Given the description of an element on the screen output the (x, y) to click on. 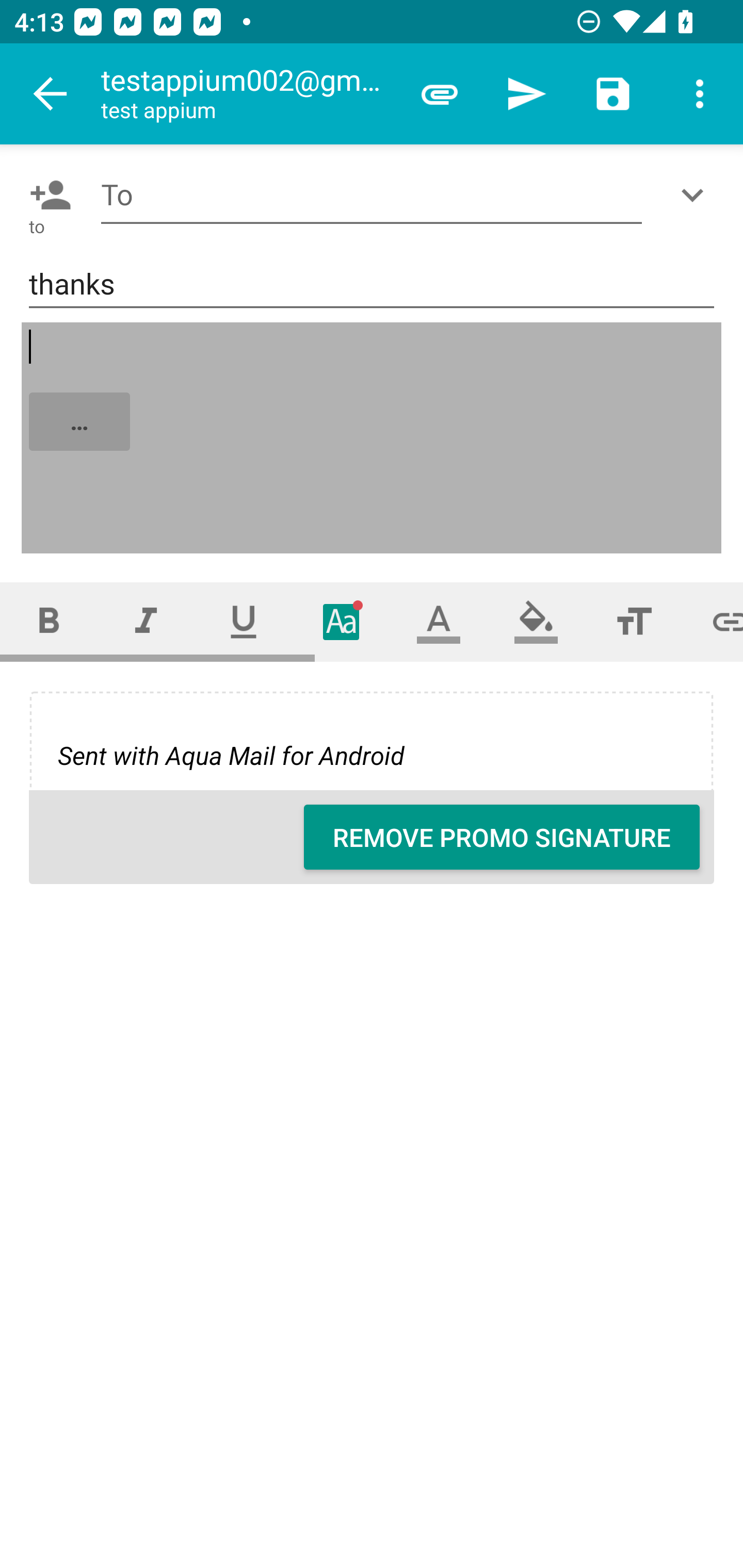
Navigate up (50, 93)
testappium002@gmail.com test appium (248, 93)
Attach (439, 93)
Send (525, 93)
Save (612, 93)
More options (699, 93)
Pick contact: To (46, 195)
Show/Add CC/BCC (696, 195)
To (371, 195)
thanks (371, 284)

…
 (372, 438)
Bold (48, 621)
Italic (145, 621)
Underline (243, 621)
Typeface (font) (341, 621)
Text color (438, 621)
Fill color (536, 621)
Font size (633, 621)
REMOVE PROMO SIGNATURE (501, 837)
